Given the description of an element on the screen output the (x, y) to click on. 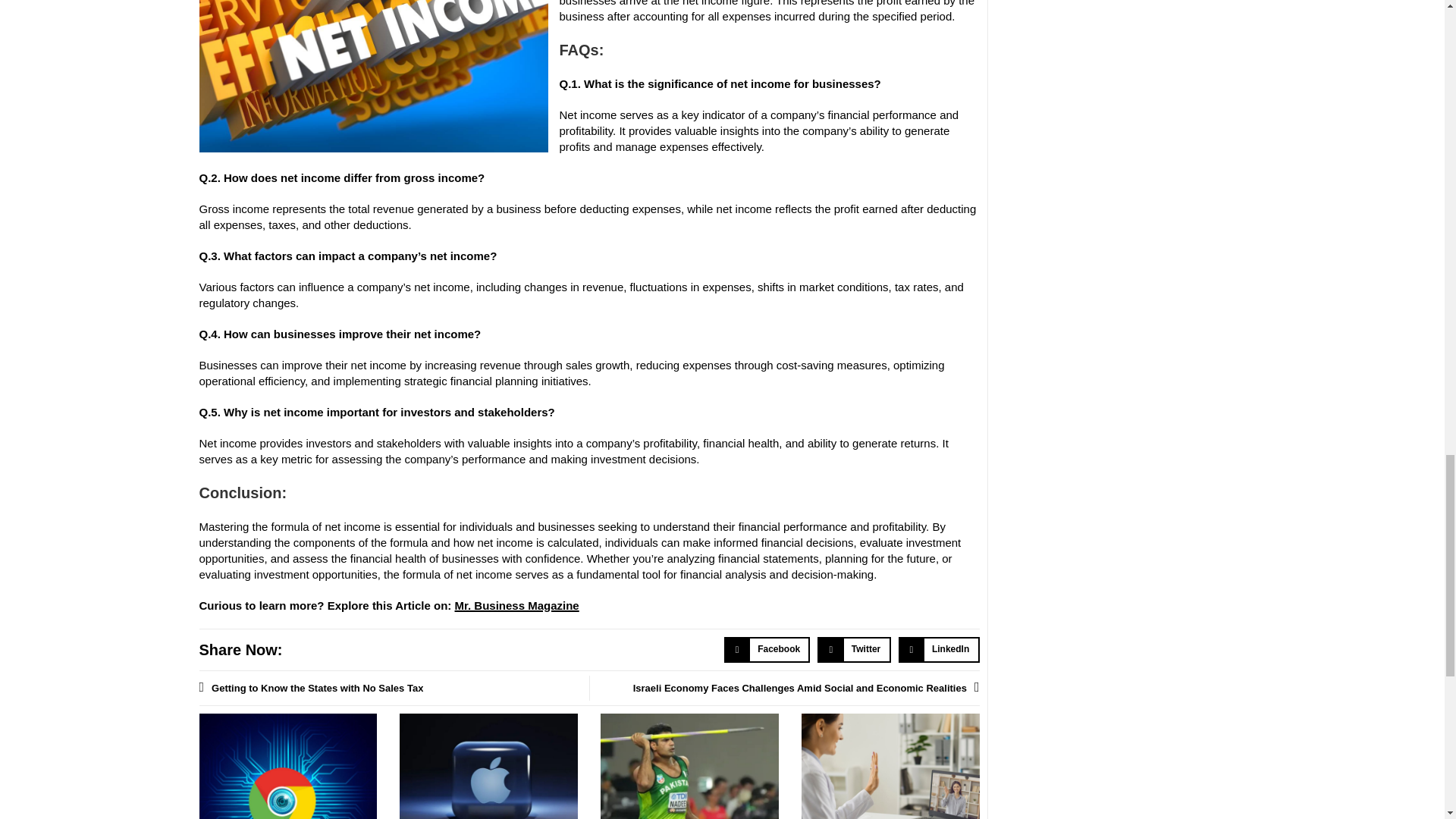
Mr. Business Magazine (516, 604)
Getting to Know the States with No Sales Tax (393, 687)
